Given the description of an element on the screen output the (x, y) to click on. 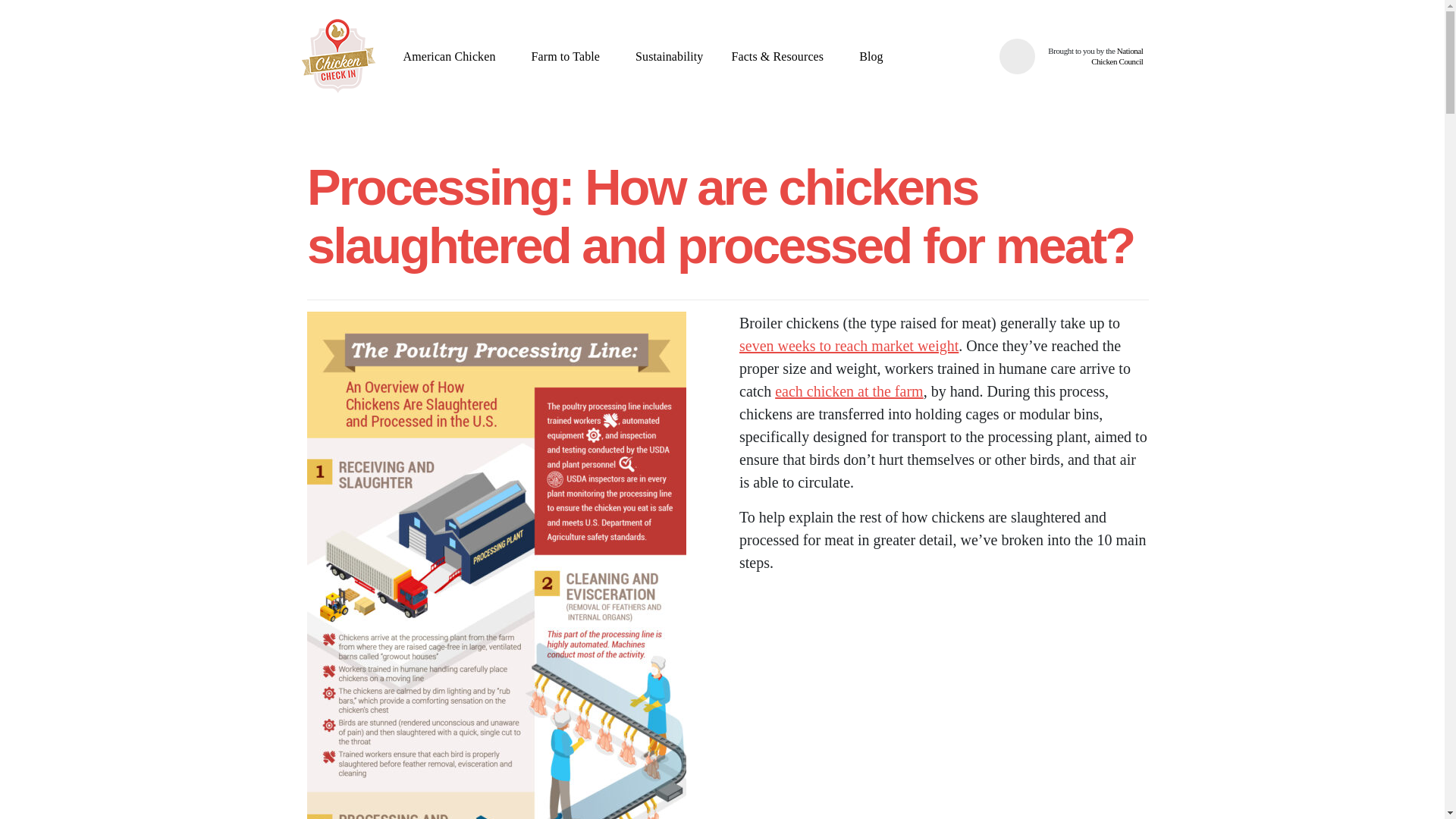
Blog (871, 56)
seven weeks to reach market weight (848, 345)
American Chicken (452, 56)
Sustainability (669, 56)
each chicken at the farm (848, 391)
Farm to Table (569, 56)
